Given the description of an element on the screen output the (x, y) to click on. 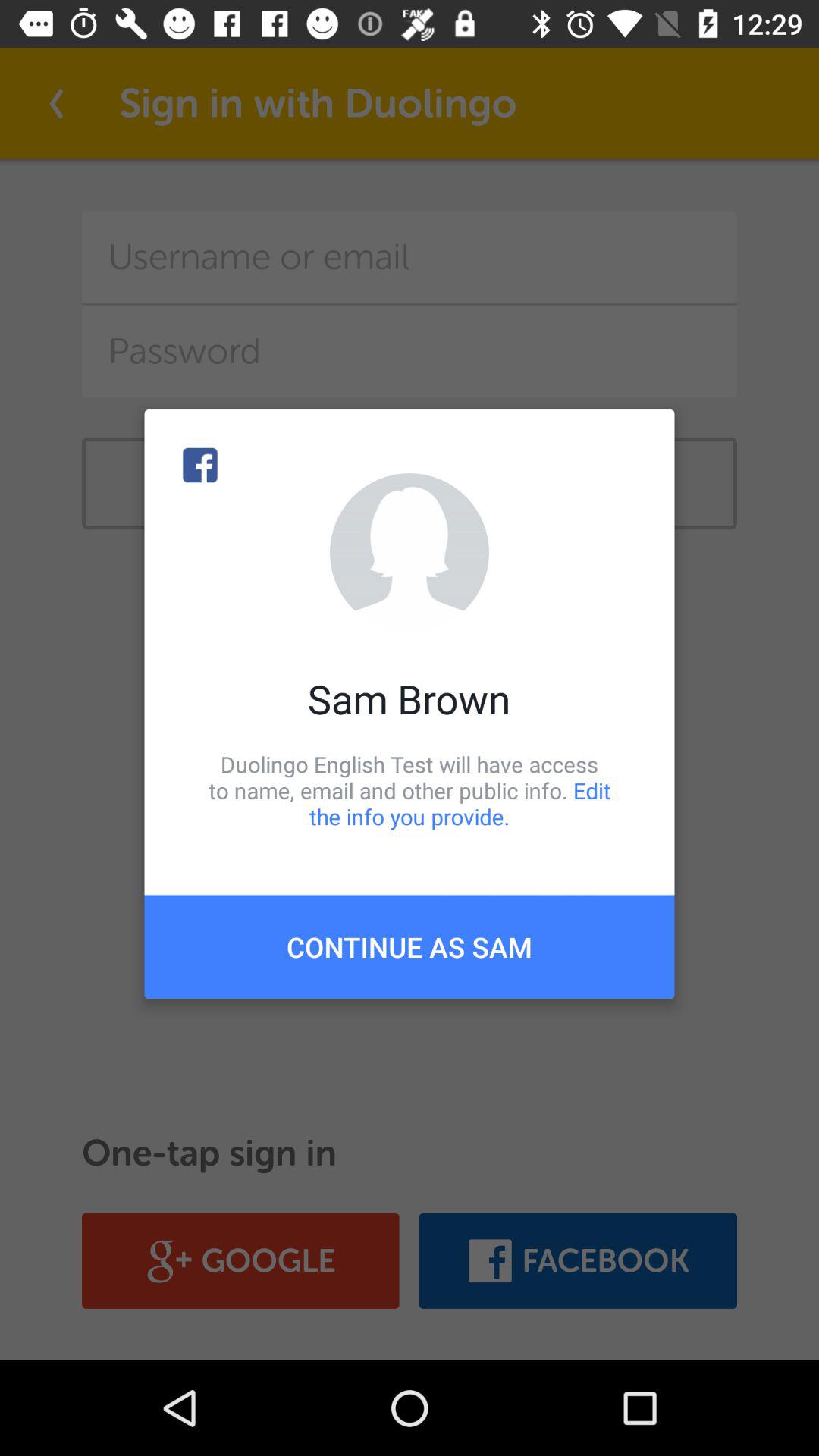
click icon above continue as sam (409, 790)
